Given the description of an element on the screen output the (x, y) to click on. 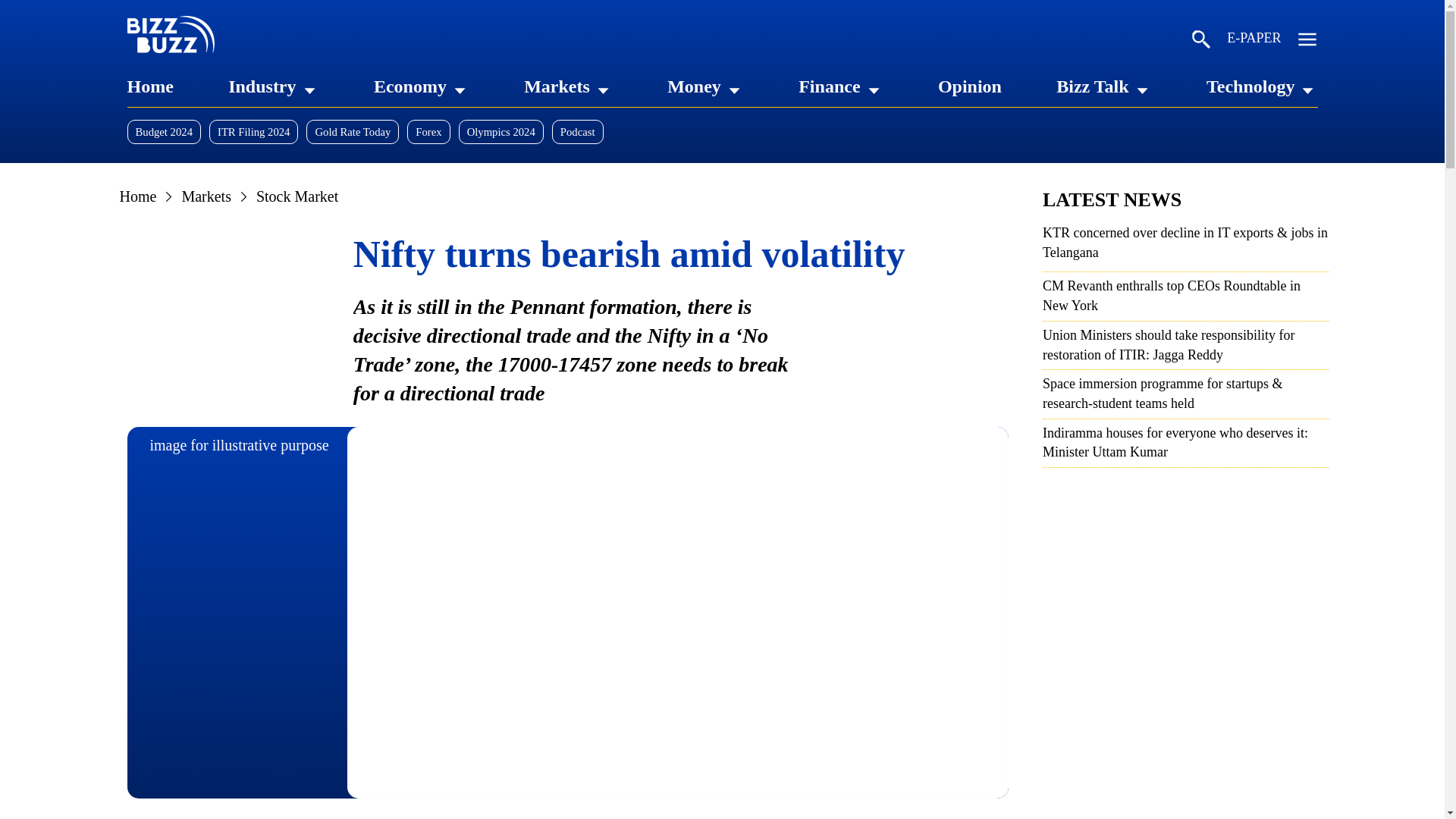
Economy (410, 86)
Industry (261, 86)
Money (693, 86)
Home (150, 86)
E-PAPER (1254, 41)
Markets (556, 86)
